Given the description of an element on the screen output the (x, y) to click on. 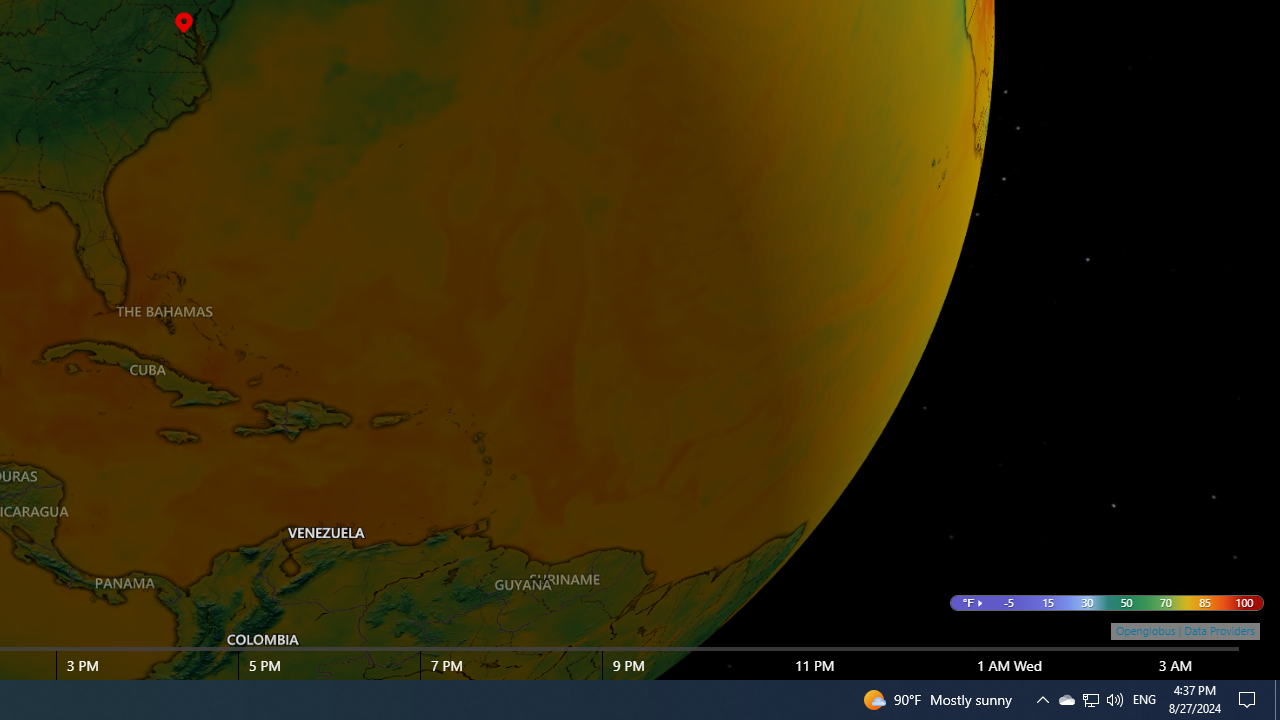
Tray Input Indicator - English (United States) (1144, 699)
